Given the description of an element on the screen output the (x, y) to click on. 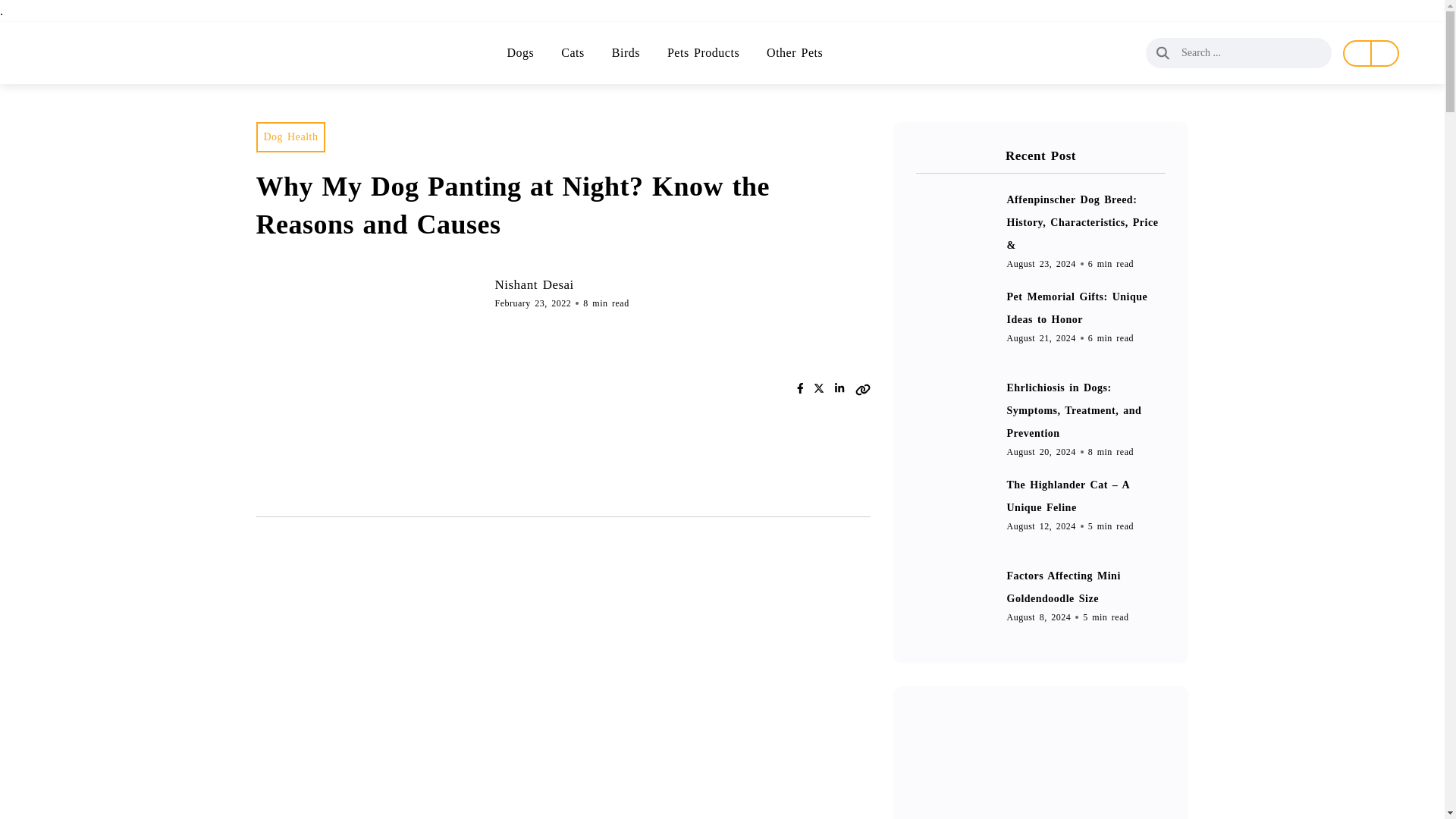
Pets Products (702, 52)
Copy Link (863, 388)
Other Pets (794, 52)
Pets Nurturing (101, 52)
